Given the description of an element on the screen output the (x, y) to click on. 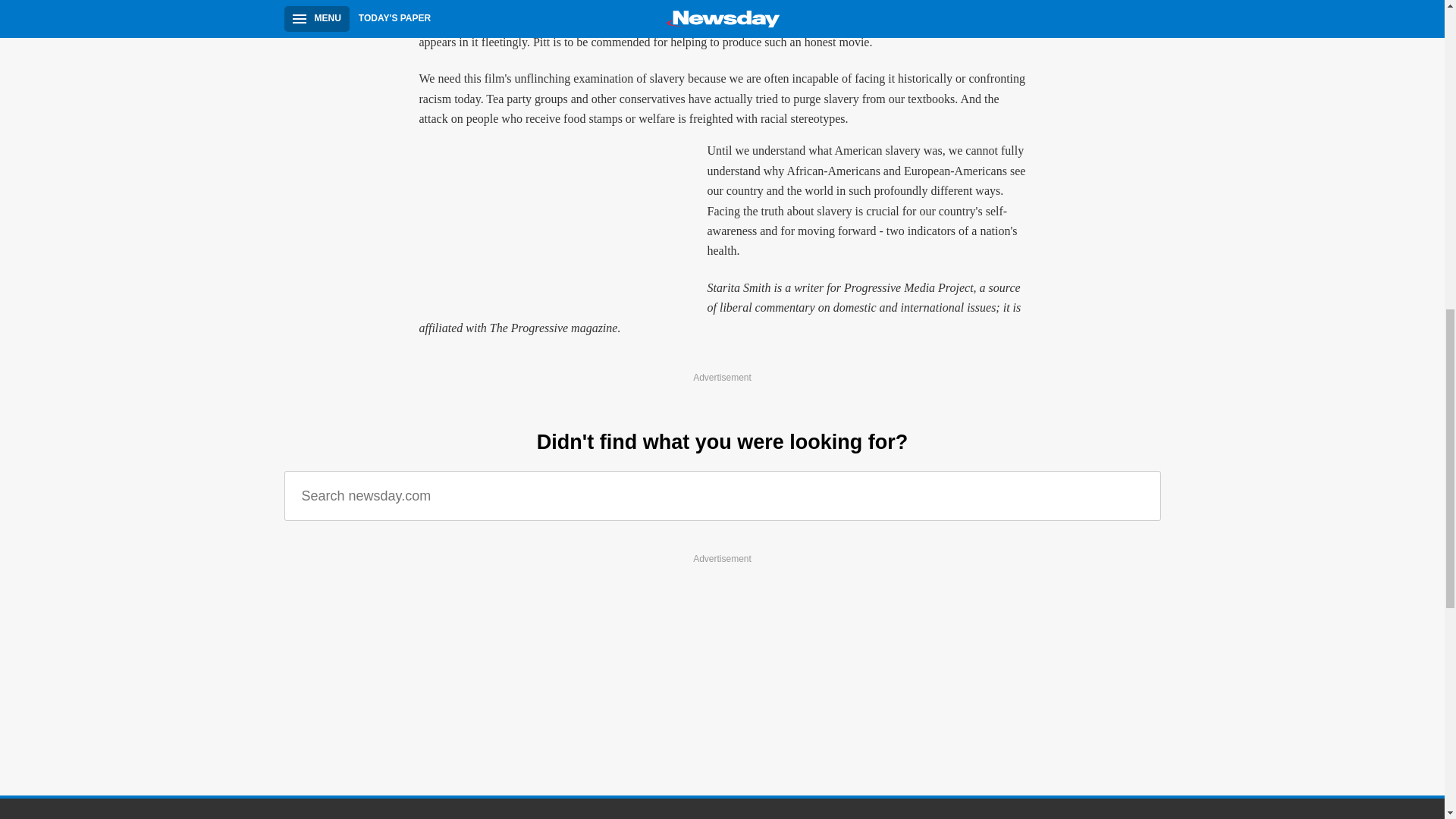
Search (1137, 495)
Read in the app (238, 707)
